Given the description of an element on the screen output the (x, y) to click on. 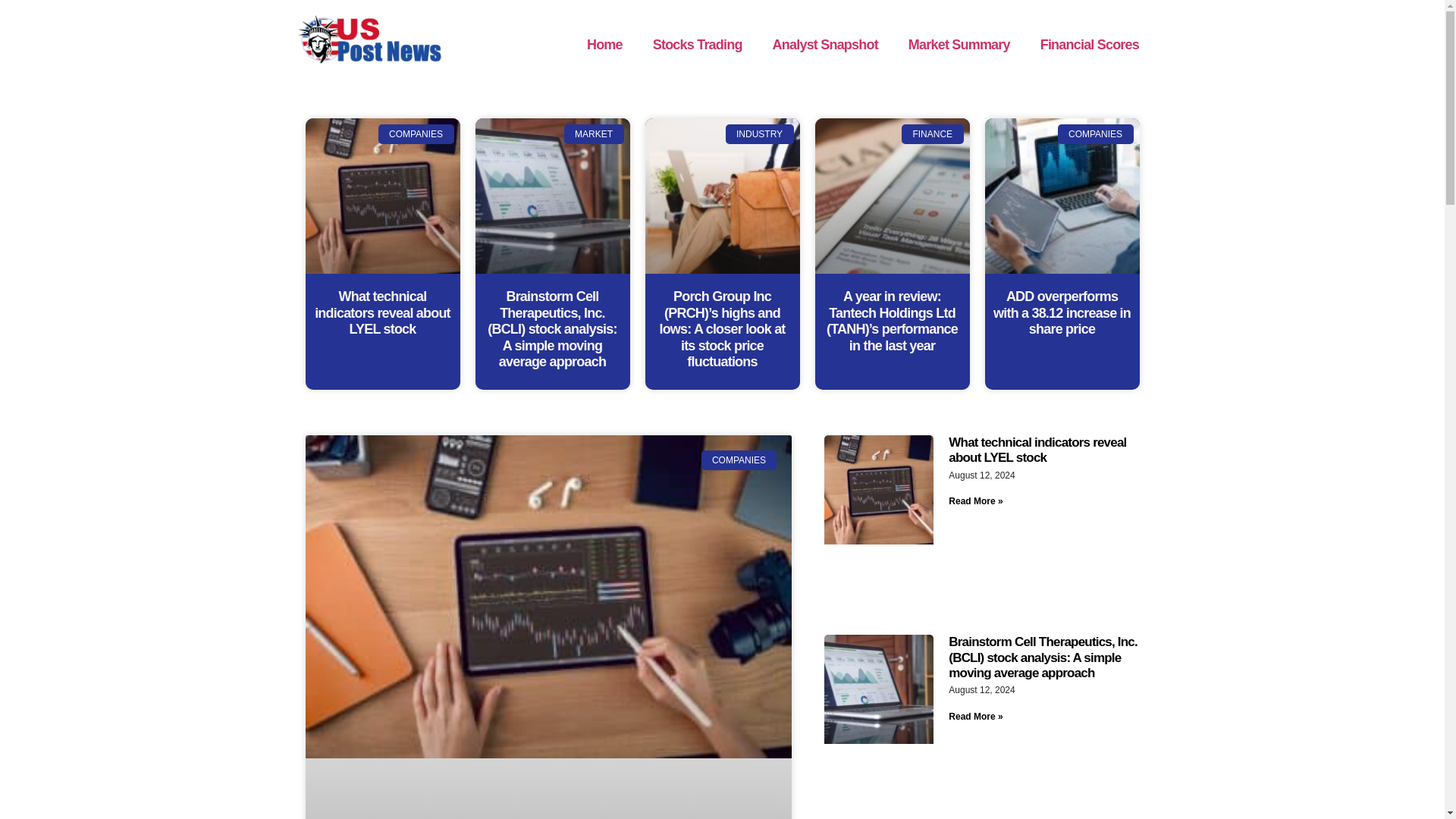
Market Summary (959, 44)
What technical indicators reveal about LYEL stock (381, 312)
What technical indicators reveal about LYEL stock (1037, 449)
Analyst Snapshot (825, 44)
ADD overperforms with a 38.12 increase in share price (1061, 312)
Stocks Trading (697, 44)
Financial Scores (1089, 44)
Home (604, 44)
